Given the description of an element on the screen output the (x, y) to click on. 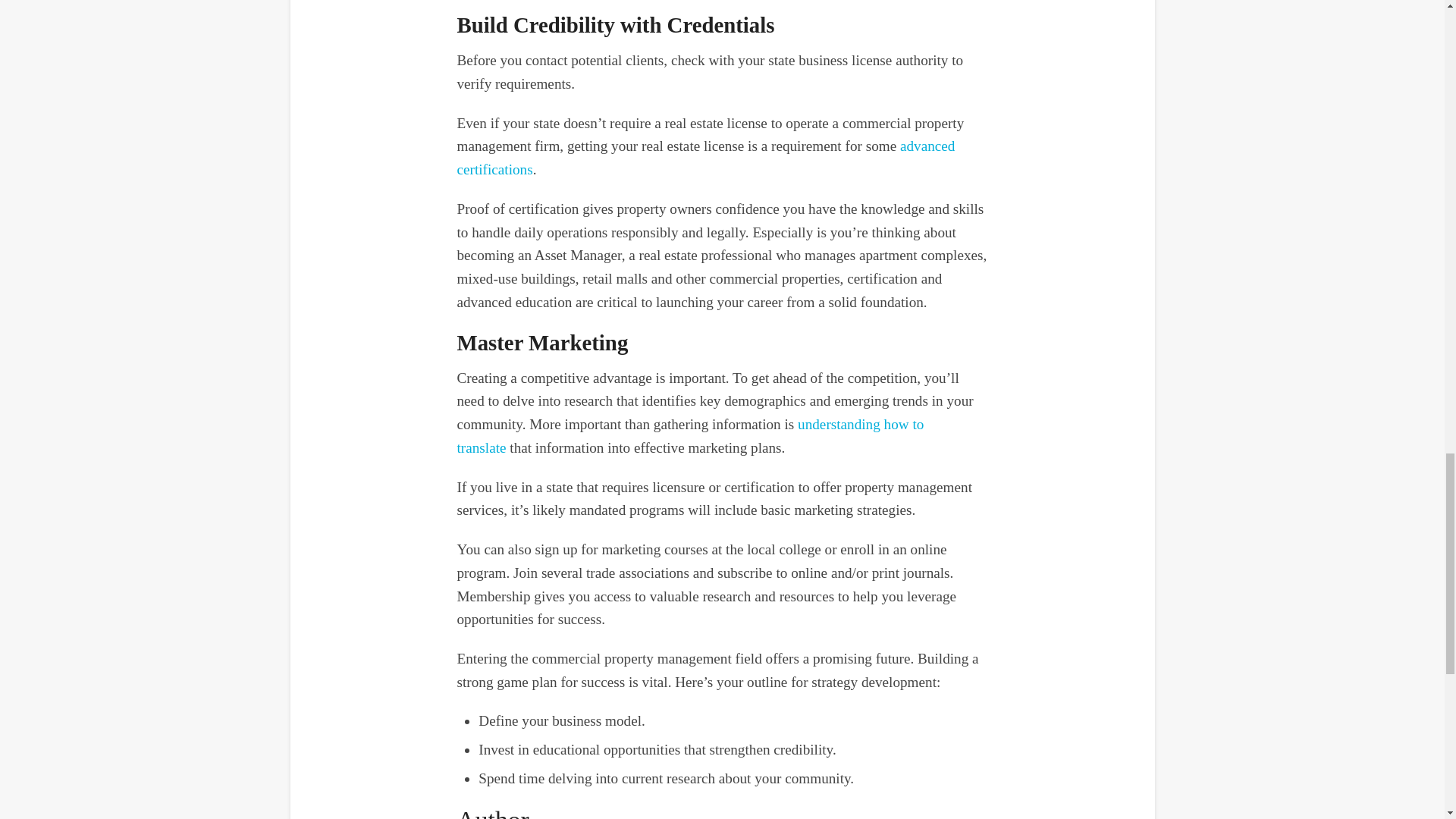
understanding how to translate (690, 435)
advanced certifications (706, 157)
